Given the description of an element on the screen output the (x, y) to click on. 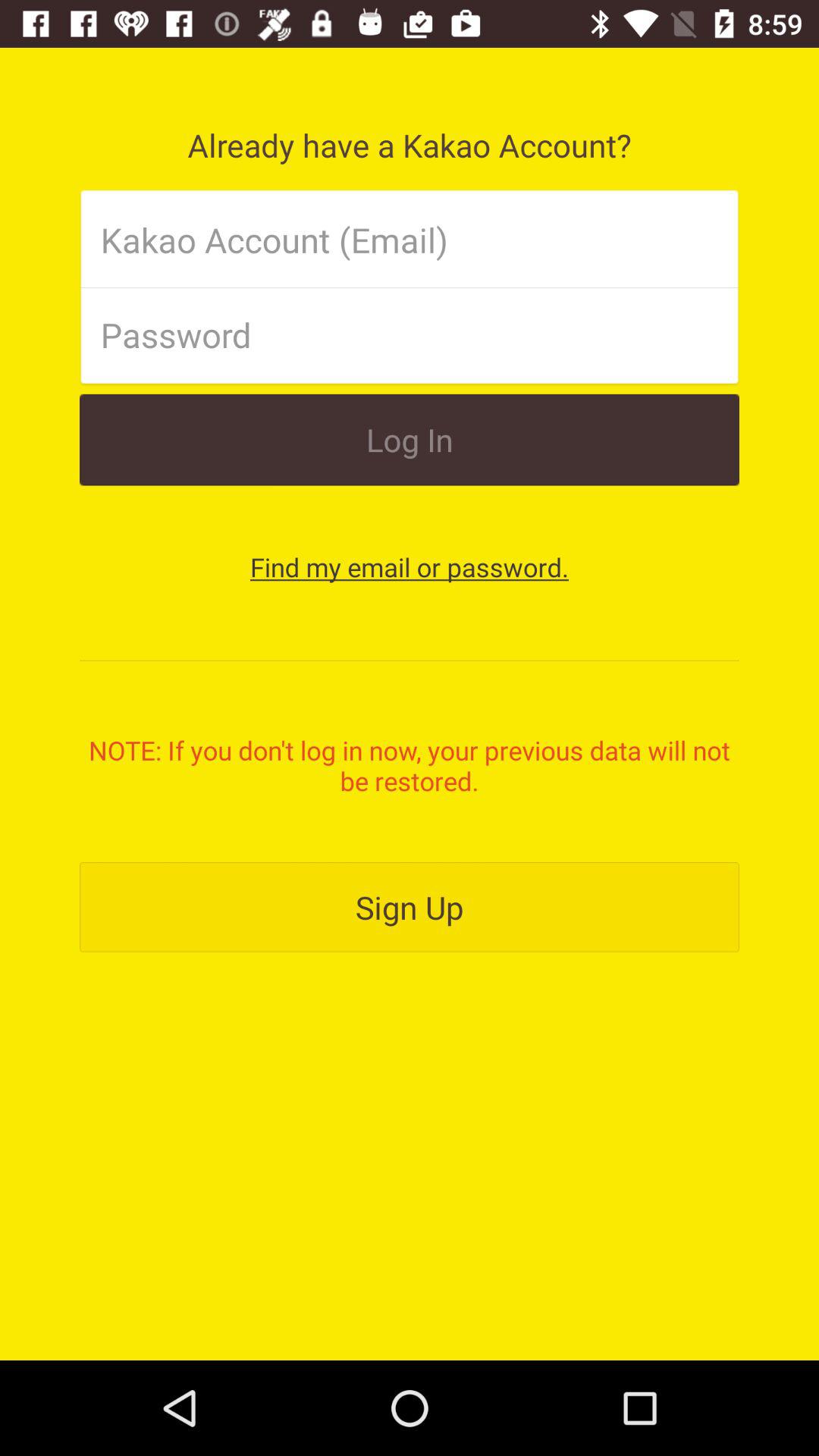
enter password (384, 334)
